Given the description of an element on the screen output the (x, y) to click on. 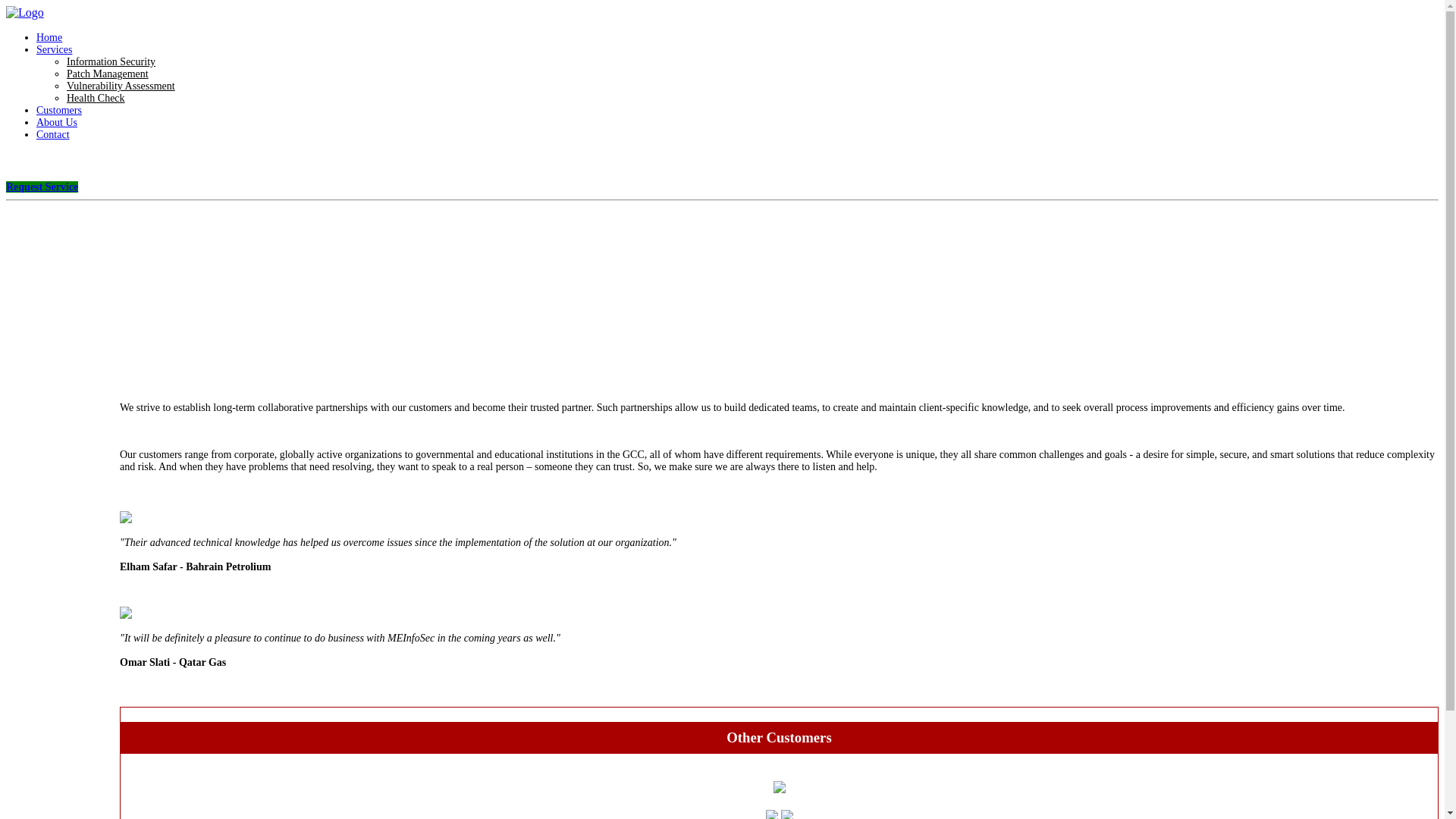
Contact (52, 134)
Vulnerability Assessment (120, 85)
About Us (56, 122)
Health Check (95, 98)
Information Security (110, 61)
Customers (58, 110)
Request Service (41, 186)
Back to Home (24, 11)
Home (49, 37)
Services (53, 49)
Patch Management (107, 73)
